Given the description of an element on the screen output the (x, y) to click on. 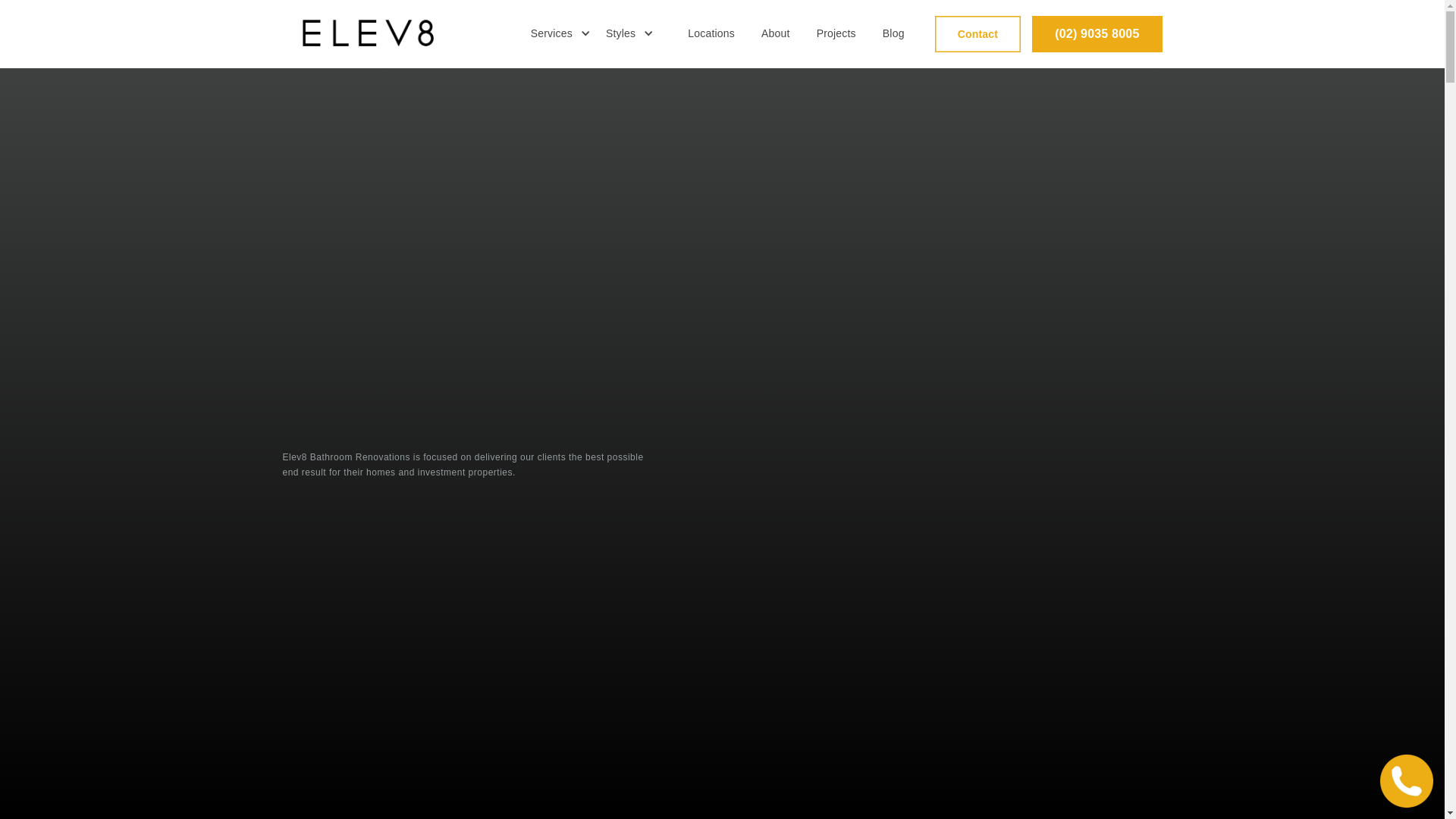
Blog Element type: text (893, 34)
About Element type: text (775, 34)
Contact Element type: text (978, 33)
Locations Element type: text (711, 34)
(02) 9035 8005 Element type: text (1096, 33)
Projects Element type: text (836, 34)
Submit Element type: text (982, 560)
